Given the description of an element on the screen output the (x, y) to click on. 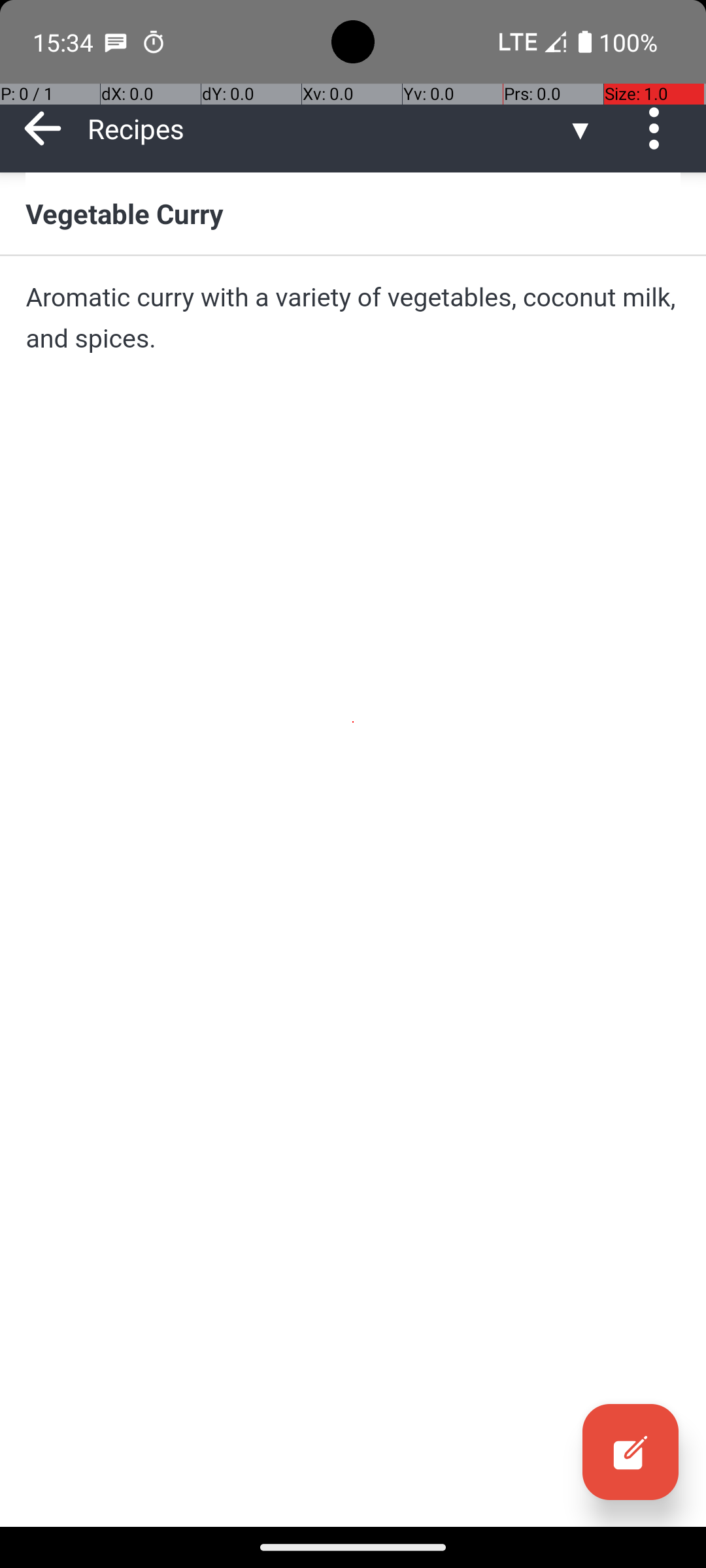
Vegetable Curry Element type: android.widget.EditText (352, 213)
Aromatic curry with a variety of vegetables, coconut milk, and spices. Element type: android.widget.TextView (352, 317)
